Given the description of an element on the screen output the (x, y) to click on. 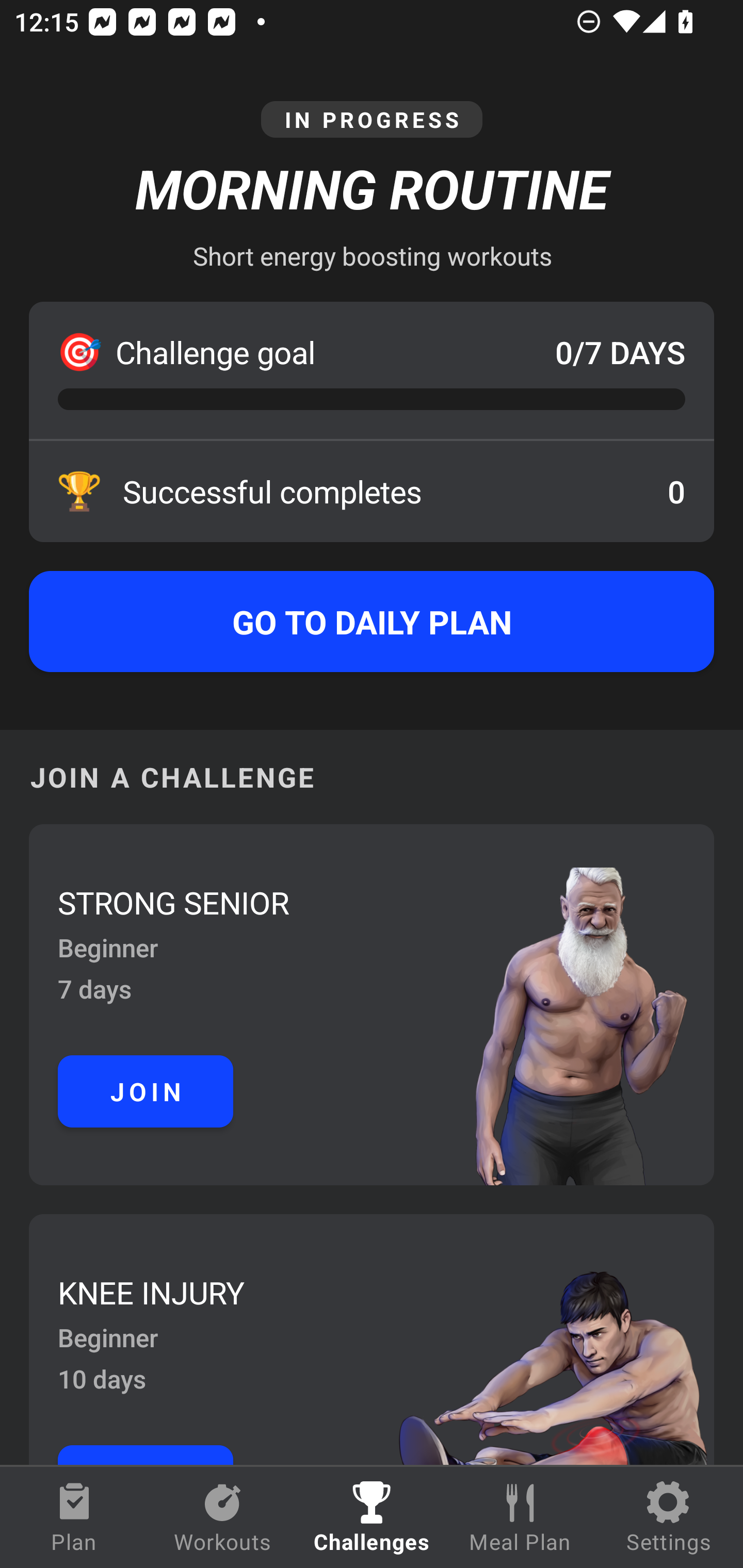
GO TO DAILY PLAN (371, 621)
JOIN (145, 1091)
 Plan  (74, 1517)
 Workouts  (222, 1517)
 Meal Plan  (519, 1517)
 Settings  (668, 1517)
